Given the description of an element on the screen output the (x, y) to click on. 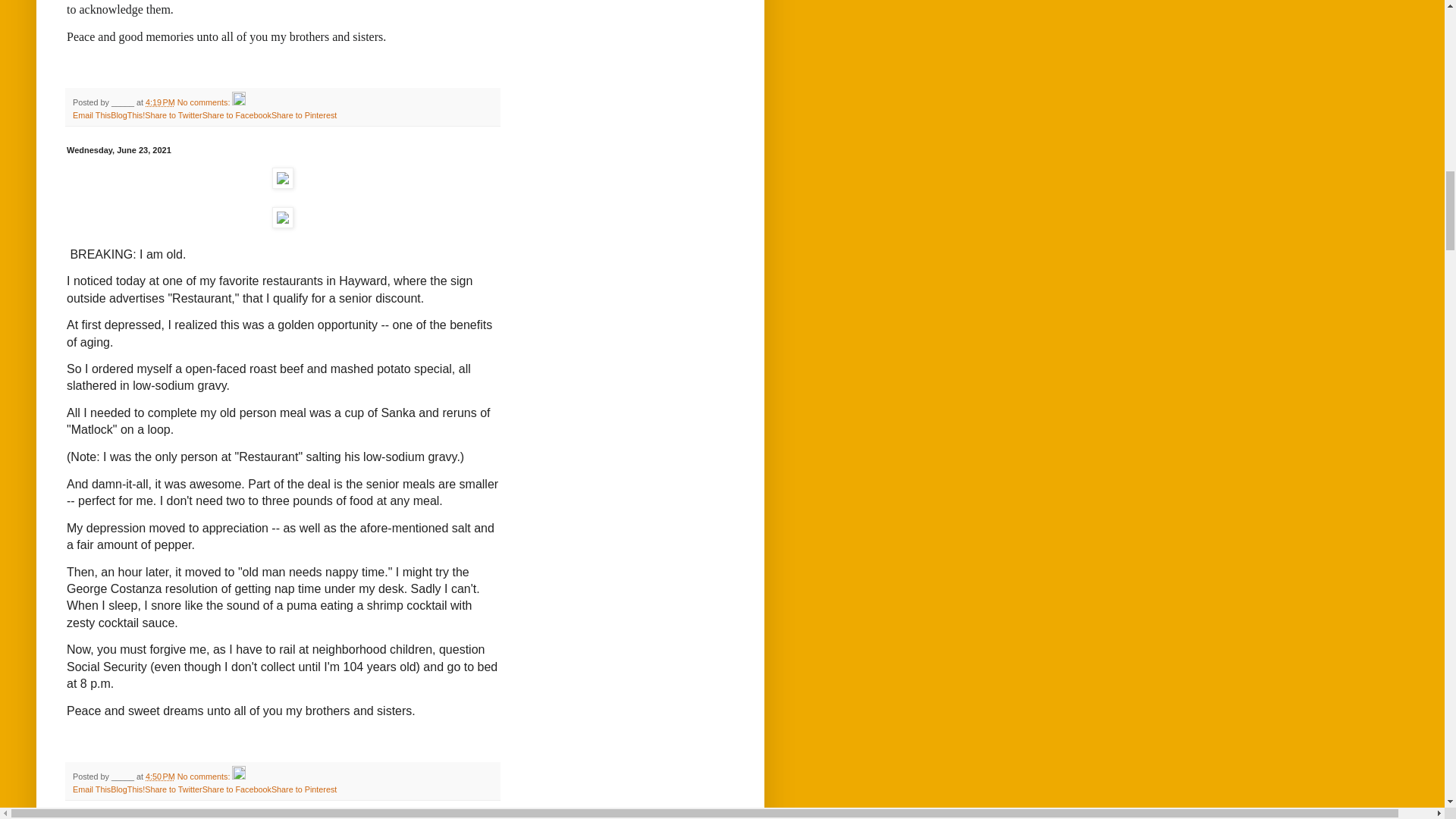
Share to Twitter (173, 114)
Share to Pinterest (303, 788)
Email This (91, 114)
Share to Twitter (173, 114)
Share to Pinterest (303, 114)
BlogThis! (127, 788)
Email This (91, 114)
permanent link (159, 102)
Email This (91, 788)
No comments: (204, 776)
Share to Facebook (236, 114)
Share to Facebook (236, 114)
Share to Twitter (173, 788)
Edit Post (238, 102)
